Given the description of an element on the screen output the (x, y) to click on. 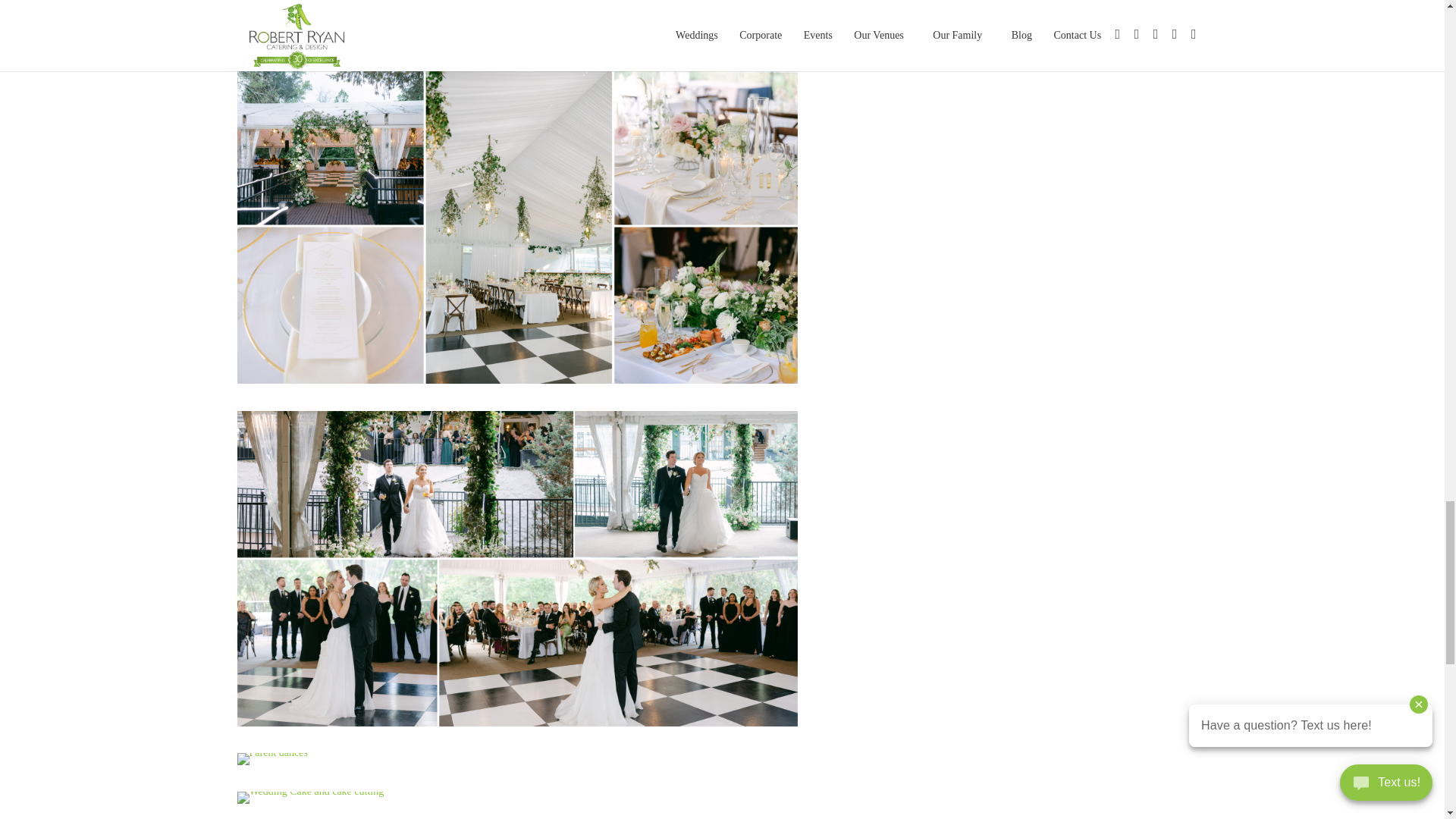
Bride and groom cutting their cheese wheel wedding cake (516, 383)
Wedding Decor (516, 41)
